Given the description of an element on the screen output the (x, y) to click on. 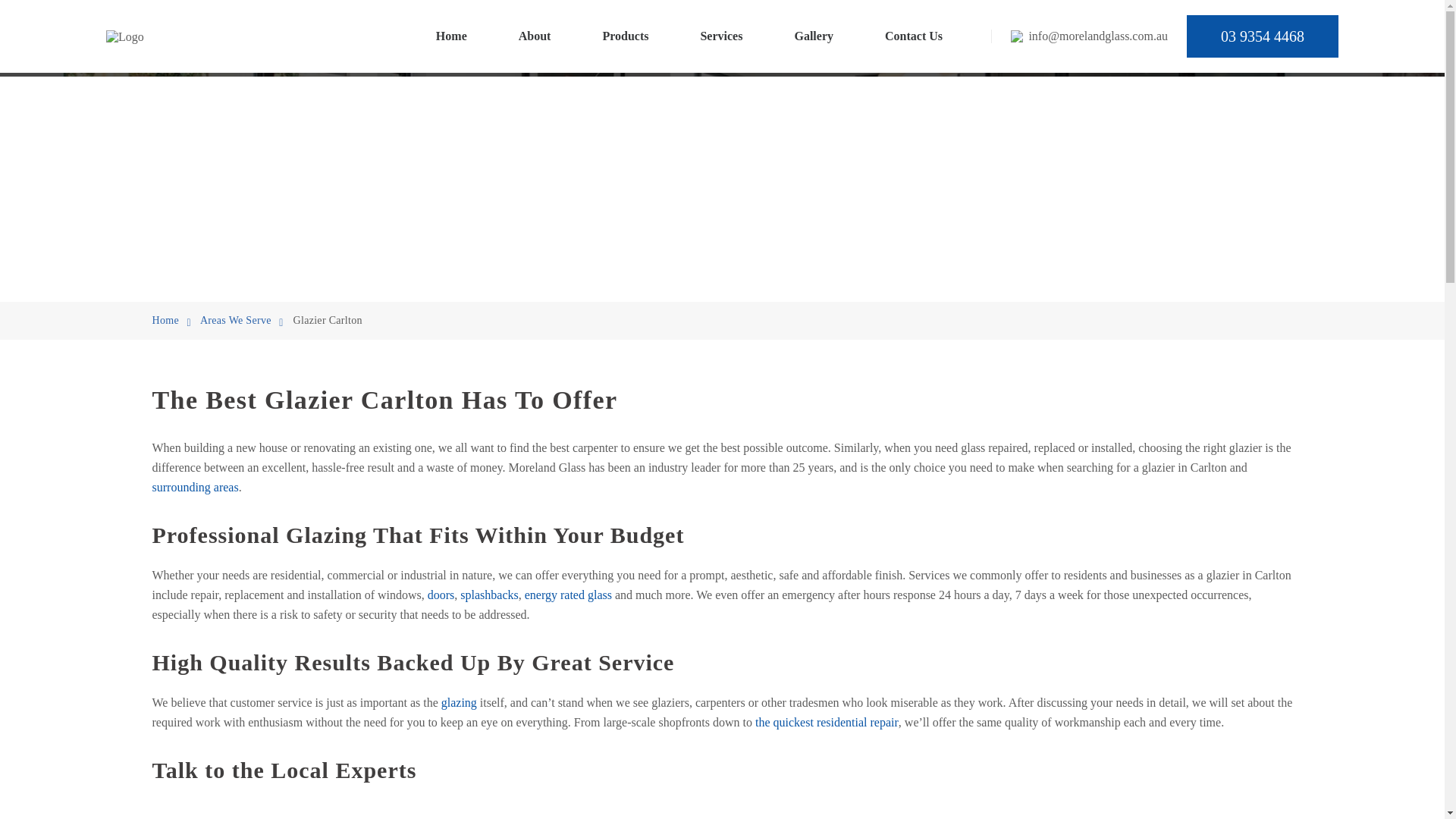
Contact Us (913, 36)
doors (441, 595)
surrounding areas (194, 487)
Areas We Serve (235, 319)
Services (721, 36)
splashbacks (489, 595)
Home (451, 36)
Home (164, 319)
Products (624, 36)
Logo (125, 37)
